Given the description of an element on the screen output the (x, y) to click on. 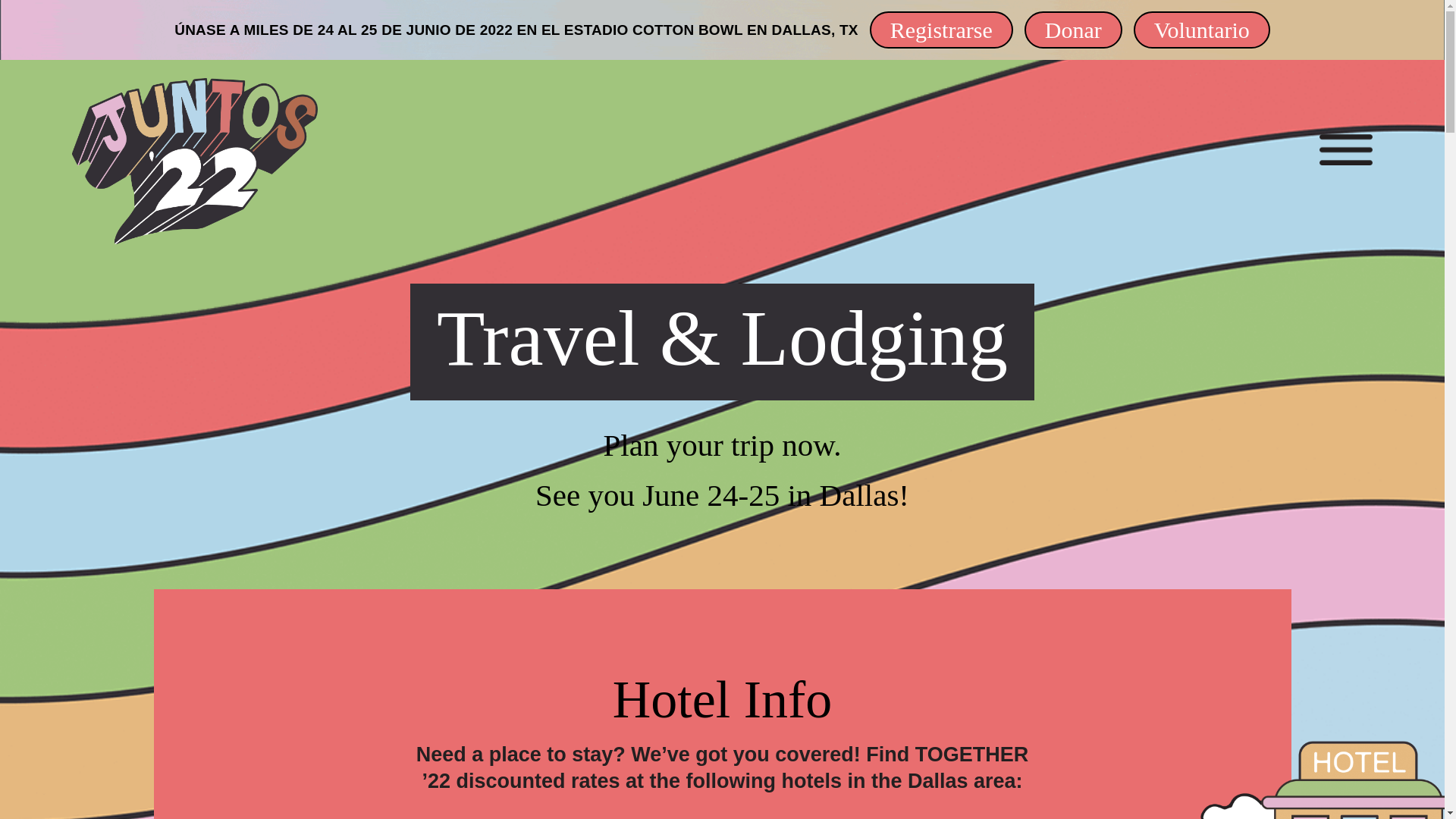
Registrarse (941, 29)
Voluntario (1201, 29)
Donar (1073, 29)
juntos22 (194, 160)
hotel (1327, 780)
